Given the description of an element on the screen output the (x, y) to click on. 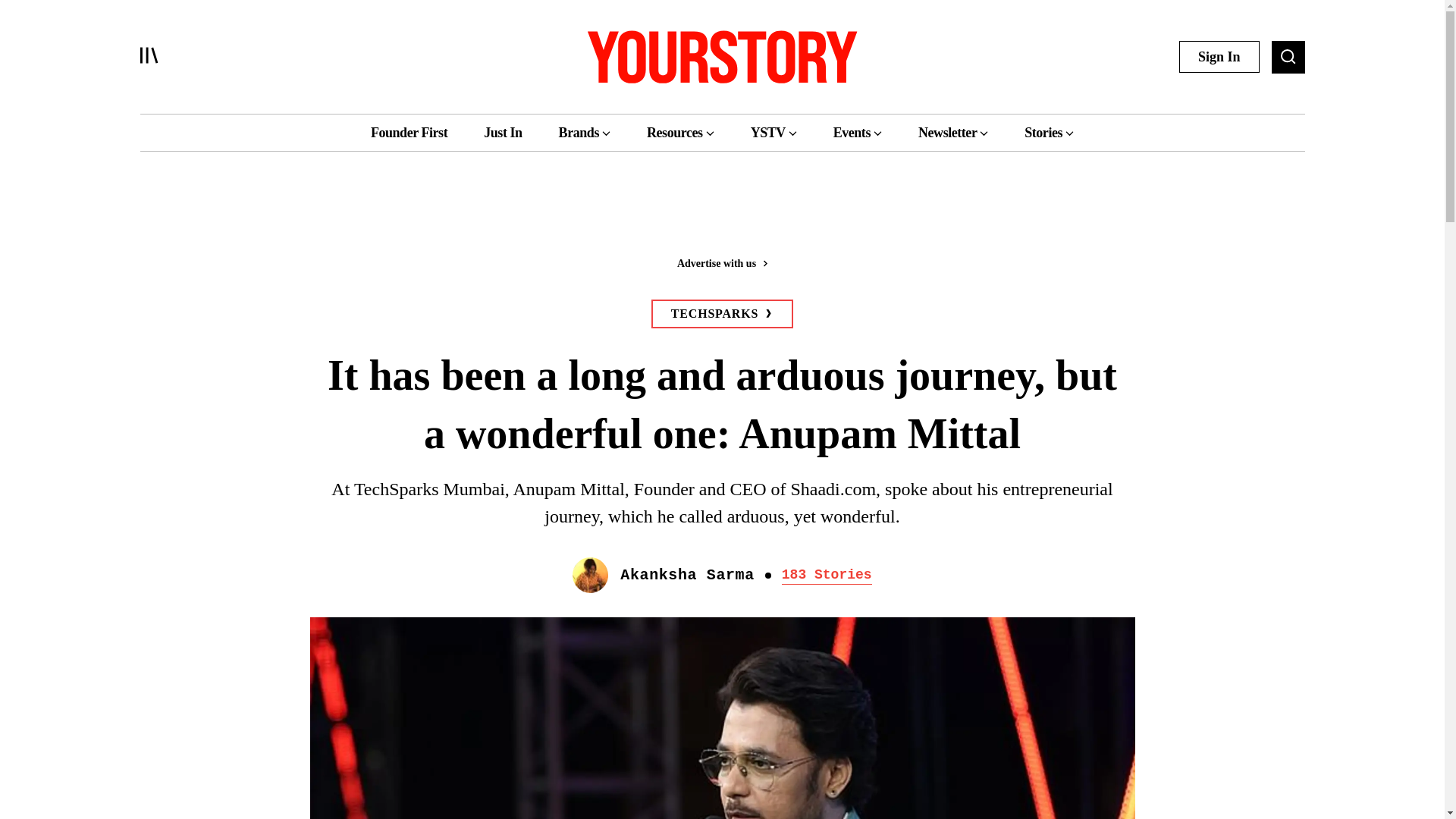
Founder First (408, 132)
Akanksha Sarma (687, 574)
Just In (502, 132)
Advertise with us (721, 263)
183 Stories (826, 574)
TECHSPARKS (721, 313)
3rd party ad content (721, 213)
